Given the description of an element on the screen output the (x, y) to click on. 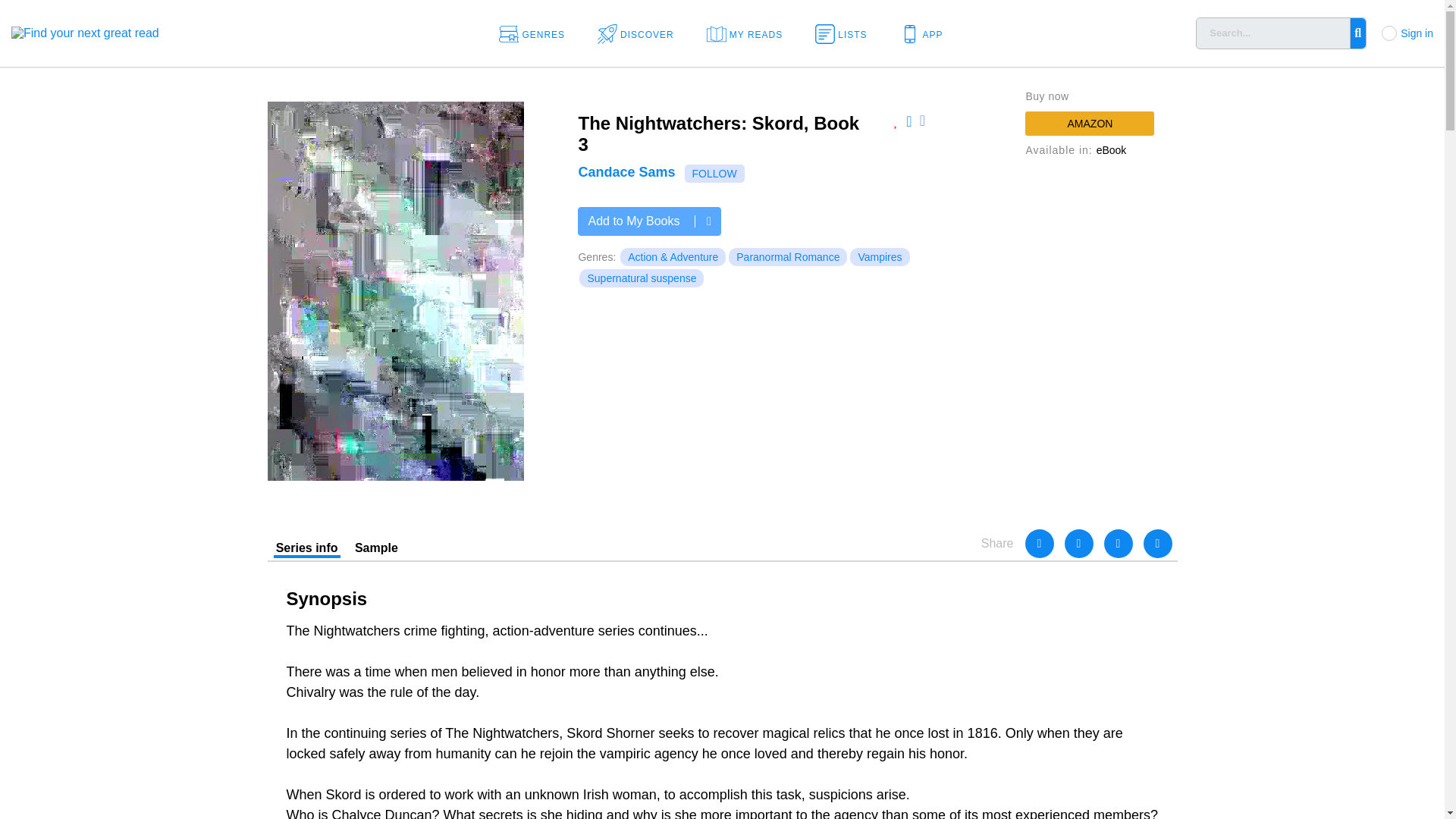
DISCOVER (640, 33)
Add to My Books (649, 221)
LISTS (845, 33)
Genres (537, 33)
Vampires (879, 257)
AMAZON (1089, 123)
Sign in (1416, 33)
Supernatural suspense (641, 278)
Candace Sams (626, 171)
FOLLOW (714, 173)
